Given the description of an element on the screen output the (x, y) to click on. 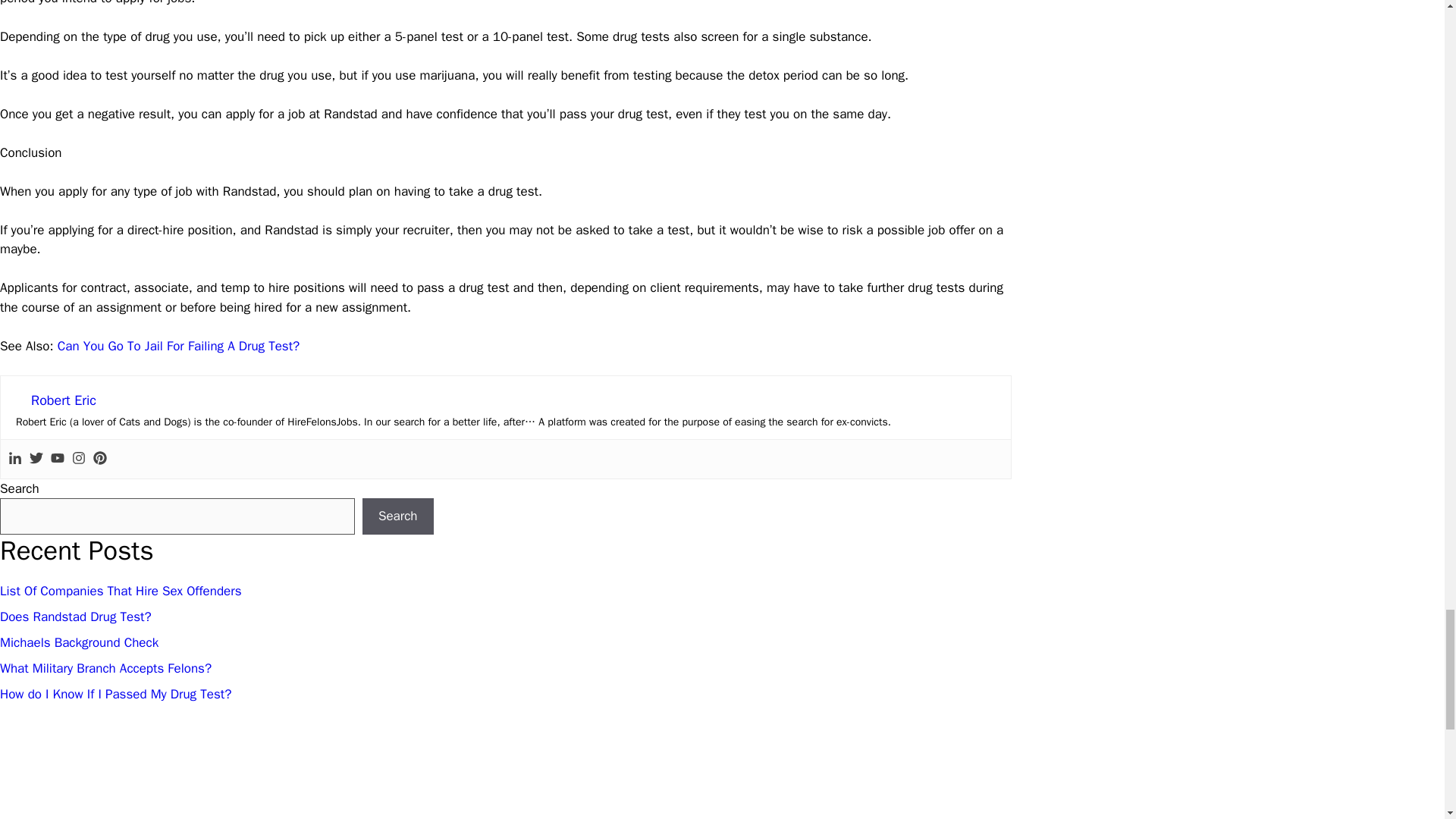
Youtube (57, 458)
Does Randstad Drug Test? (75, 616)
How do I Know If I Passed My Drug Test? (115, 693)
Pinterest (99, 458)
Robert Eric (63, 400)
Instagram (78, 458)
What Military Branch Accepts Felons? (105, 668)
Search (397, 515)
List Of Companies That Hire Sex Offenders (120, 590)
Linkedin (14, 458)
Twitter (36, 458)
Michaels Background Check (79, 642)
Can You Go To Jail For Failing A Drug Test? (178, 345)
